Given the description of an element on the screen output the (x, y) to click on. 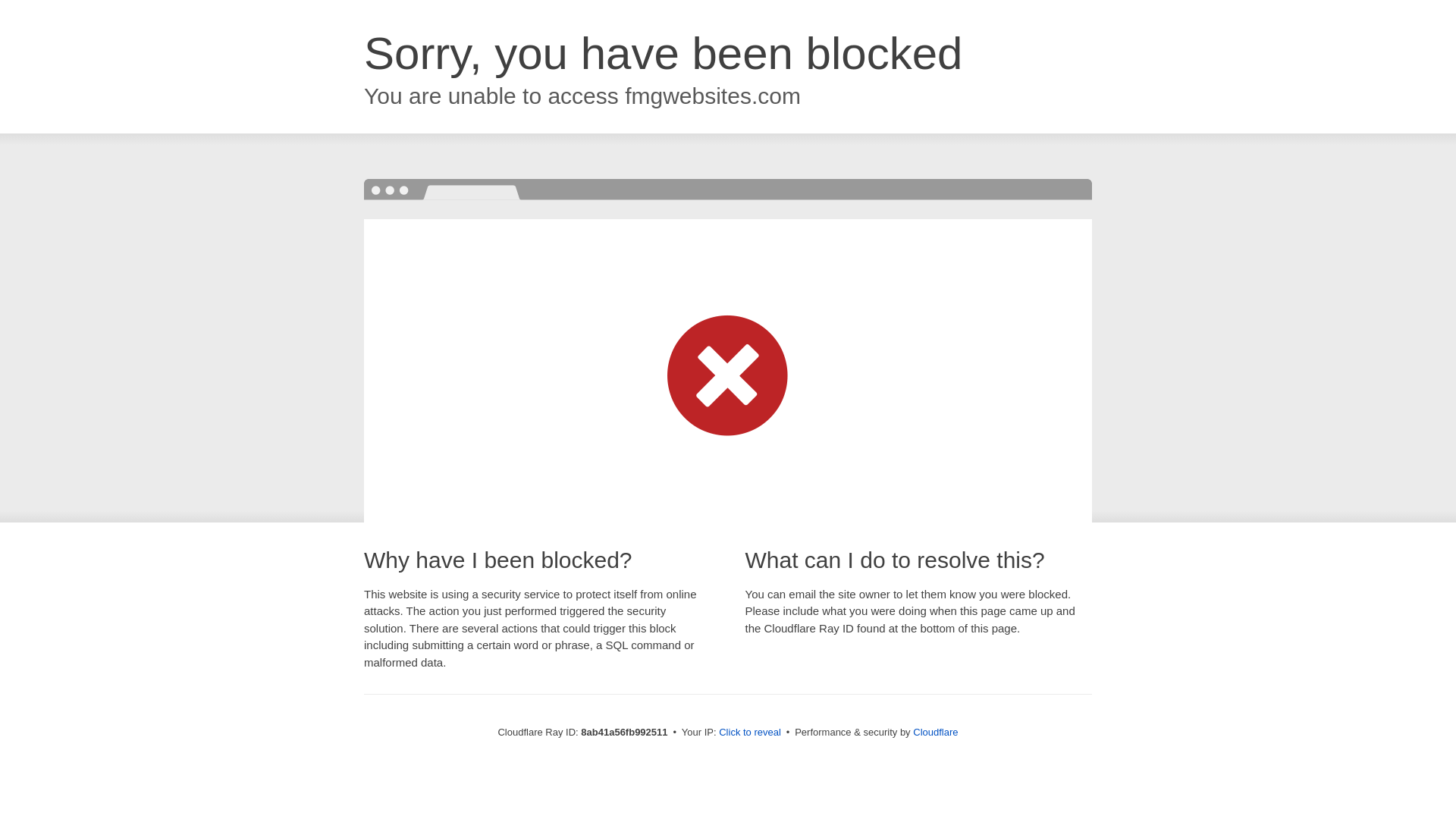
Click to reveal (749, 732)
Cloudflare (935, 731)
